Given the description of an element on the screen output the (x, y) to click on. 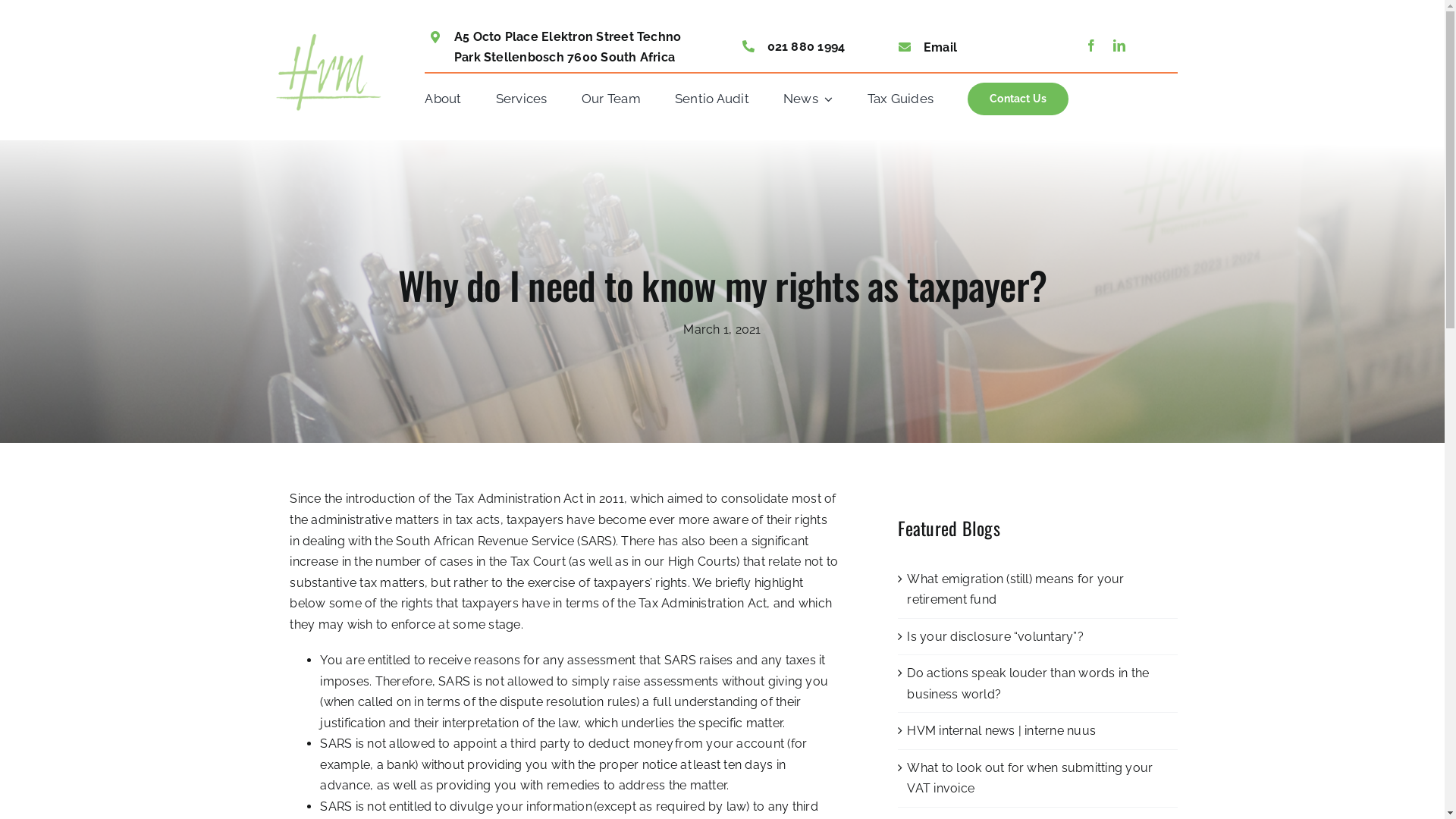
Contact Us Element type: text (1017, 99)
021 880 1994 Element type: text (806, 46)
Do actions speak louder than words in the business world? Element type: text (1027, 683)
About Element type: text (442, 99)
What emigration (still) means for your retirement fund Element type: text (1014, 589)
Our Team Element type: text (610, 99)
HVM internal news | interne nuus Element type: text (1000, 730)
Services Element type: text (521, 99)
Sentio Audit Element type: text (711, 99)
Email Element type: text (940, 47)
What to look out for when submitting your VAT invoice Element type: text (1029, 778)
News Element type: text (808, 99)
Tax Guides Element type: text (900, 99)
